Given the description of an element on the screen output the (x, y) to click on. 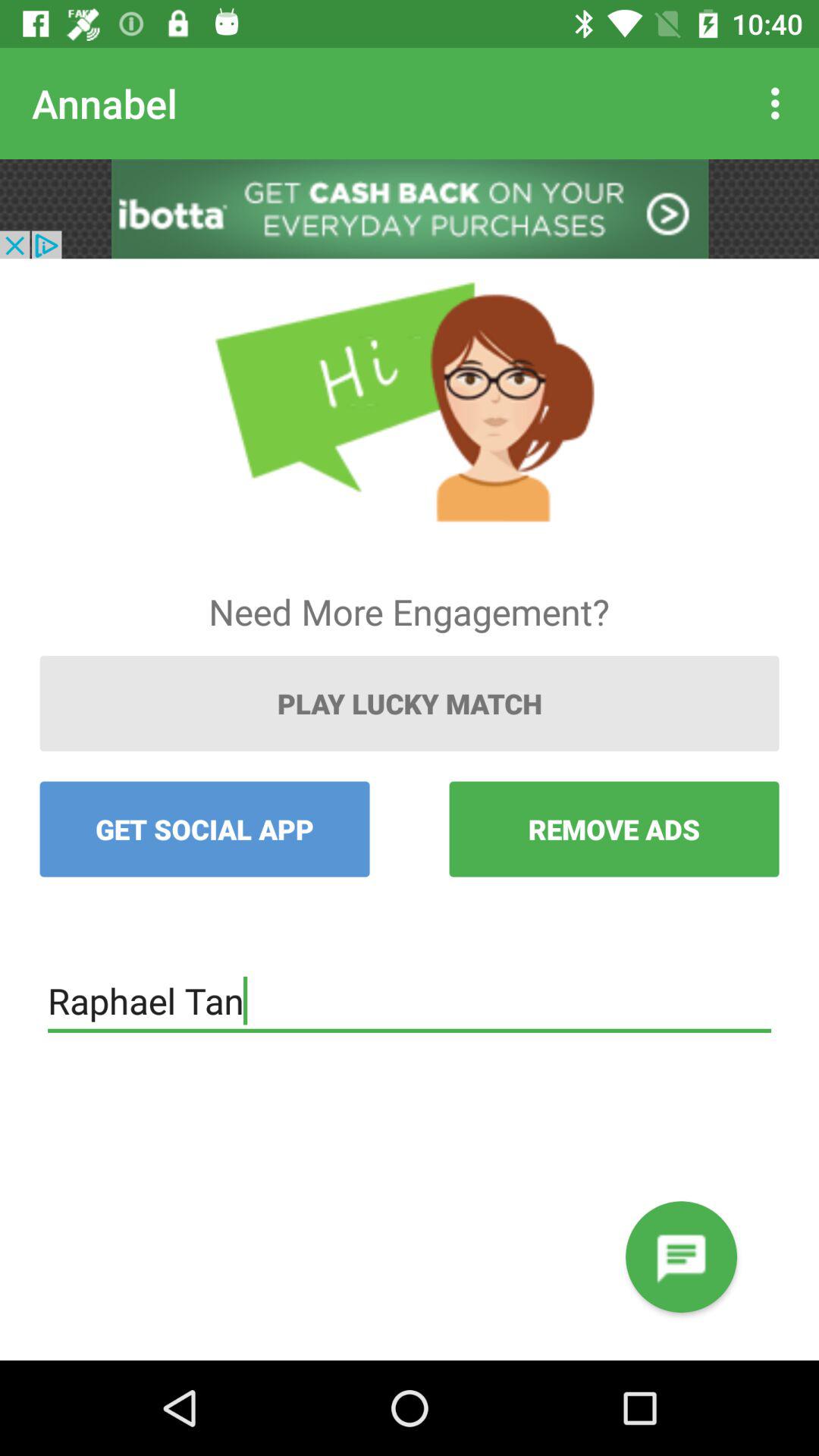
click advertisement (409, 208)
